Given the description of an element on the screen output the (x, y) to click on. 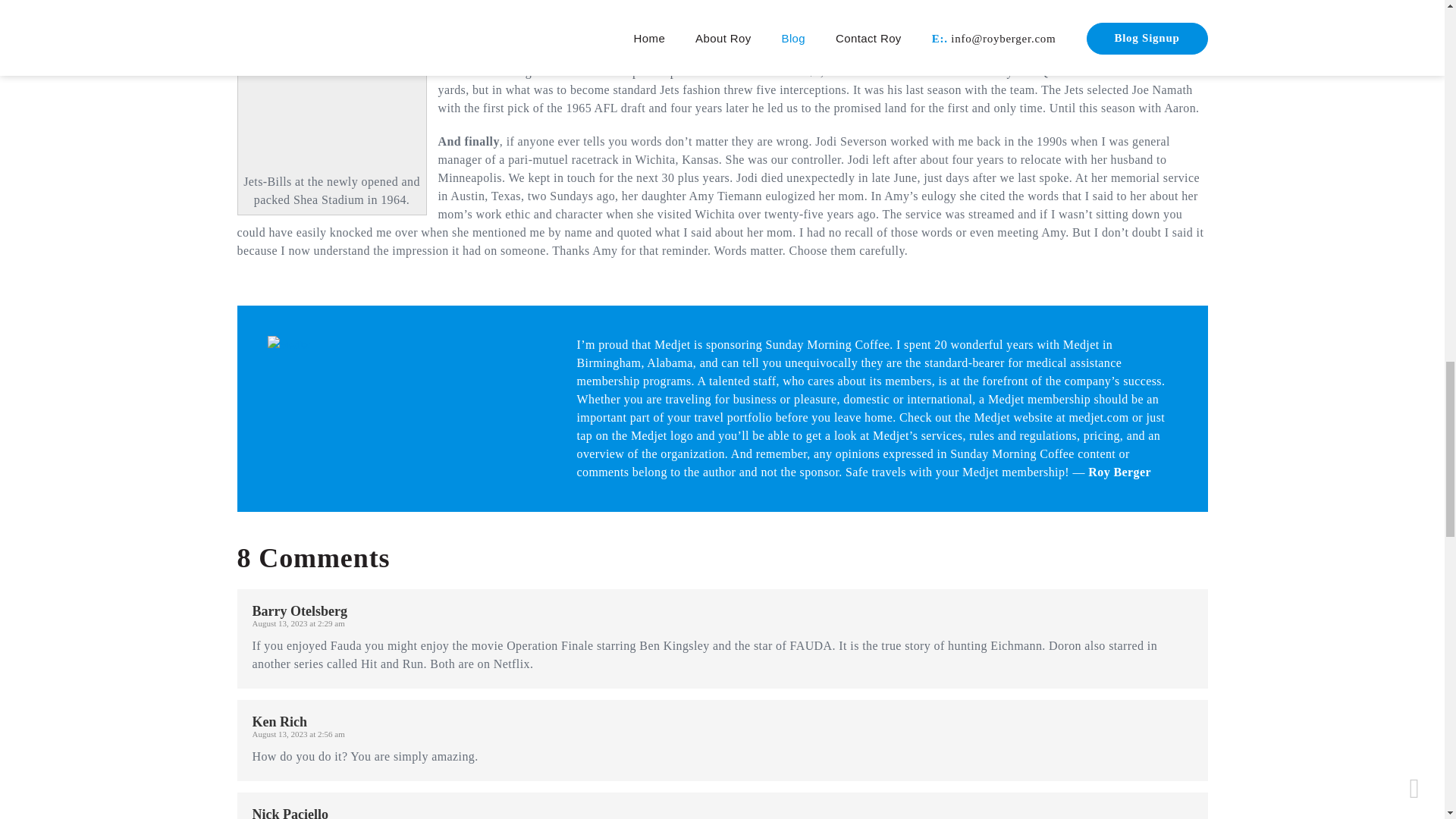
August 13, 2023 at 2:56 am (297, 733)
August 13, 2023 at 2:29 am (297, 623)
